Given the description of an element on the screen output the (x, y) to click on. 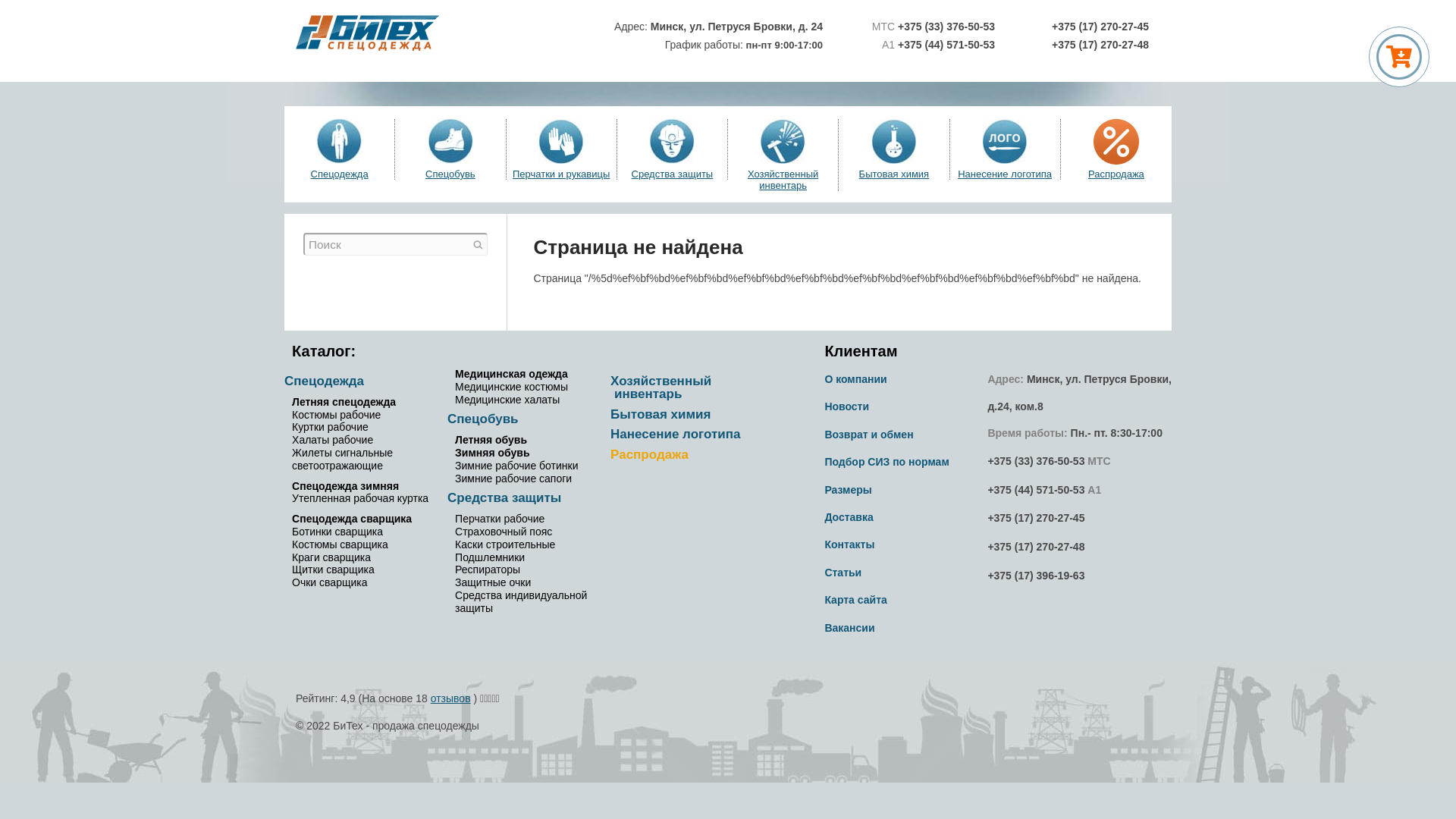
+375 (17) 270-27-48 Element type: text (1099, 44)
+375 (17) 270-27-48 Element type: text (1035, 546)
+375 (44) 571-50-53 Element type: text (1035, 489)
 +375 (44) 571-50-53 Element type: text (944, 44)
+375 (33) 376-50-53 Element type: text (1035, 461)
+375 (17) 270-27-45 Element type: text (1099, 26)
+375 (33) 376-50-53 Element type: text (945, 26)
+375 (17) 396-19-63 Element type: text (1035, 575)
+375 (17) 270-27-45 Element type: text (1035, 517)
